Given the description of an element on the screen output the (x, y) to click on. 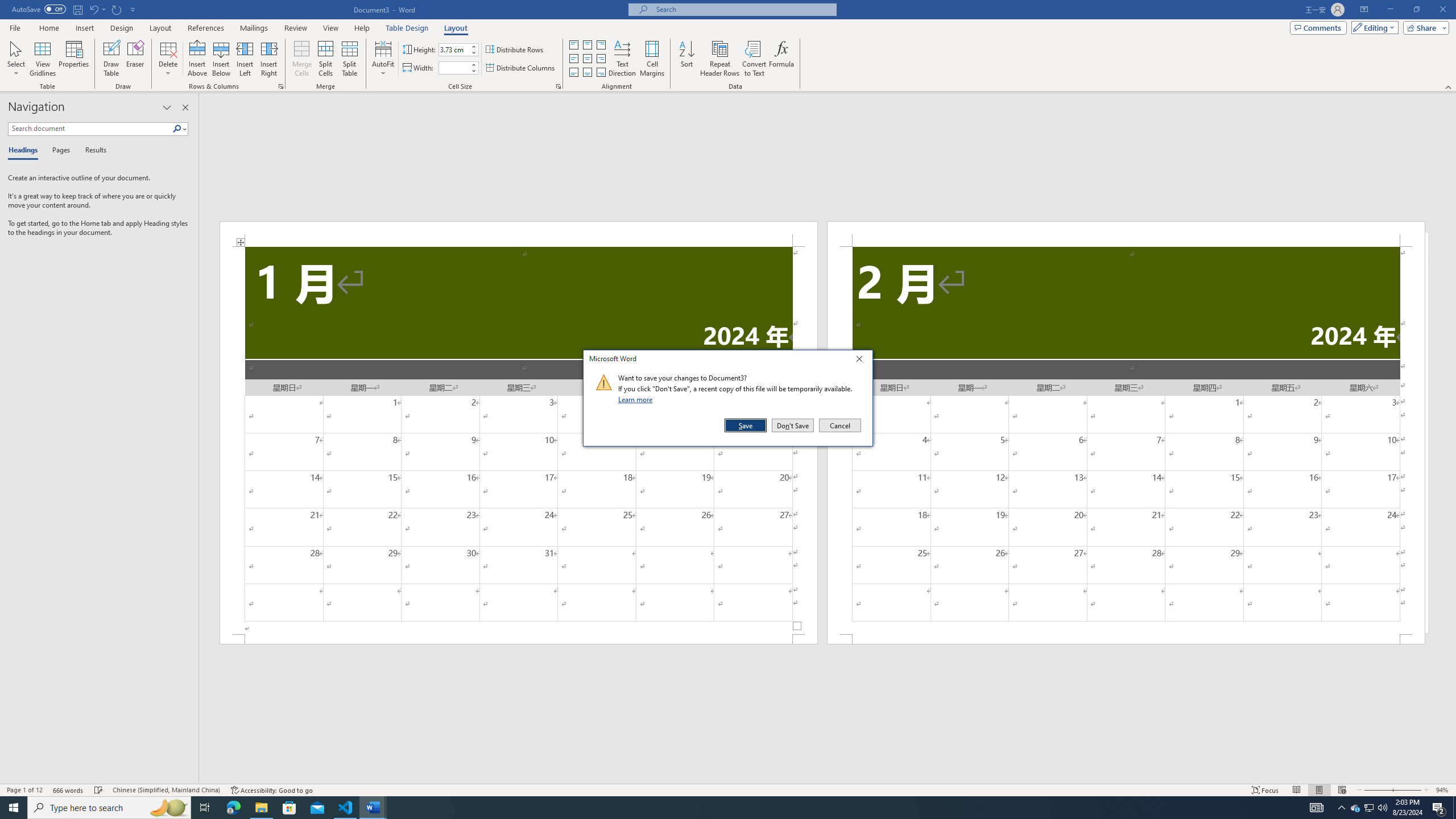
Cancel (839, 425)
Select (16, 58)
Search document (89, 128)
Print Layout (1318, 790)
Repeat Header Rows (719, 58)
Undo Increase Indent (92, 9)
Ribbon Display Options (1364, 9)
Start (13, 807)
References (205, 28)
Q2790: 100% (1382, 807)
Insert Cells... (280, 85)
